Given the description of an element on the screen output the (x, y) to click on. 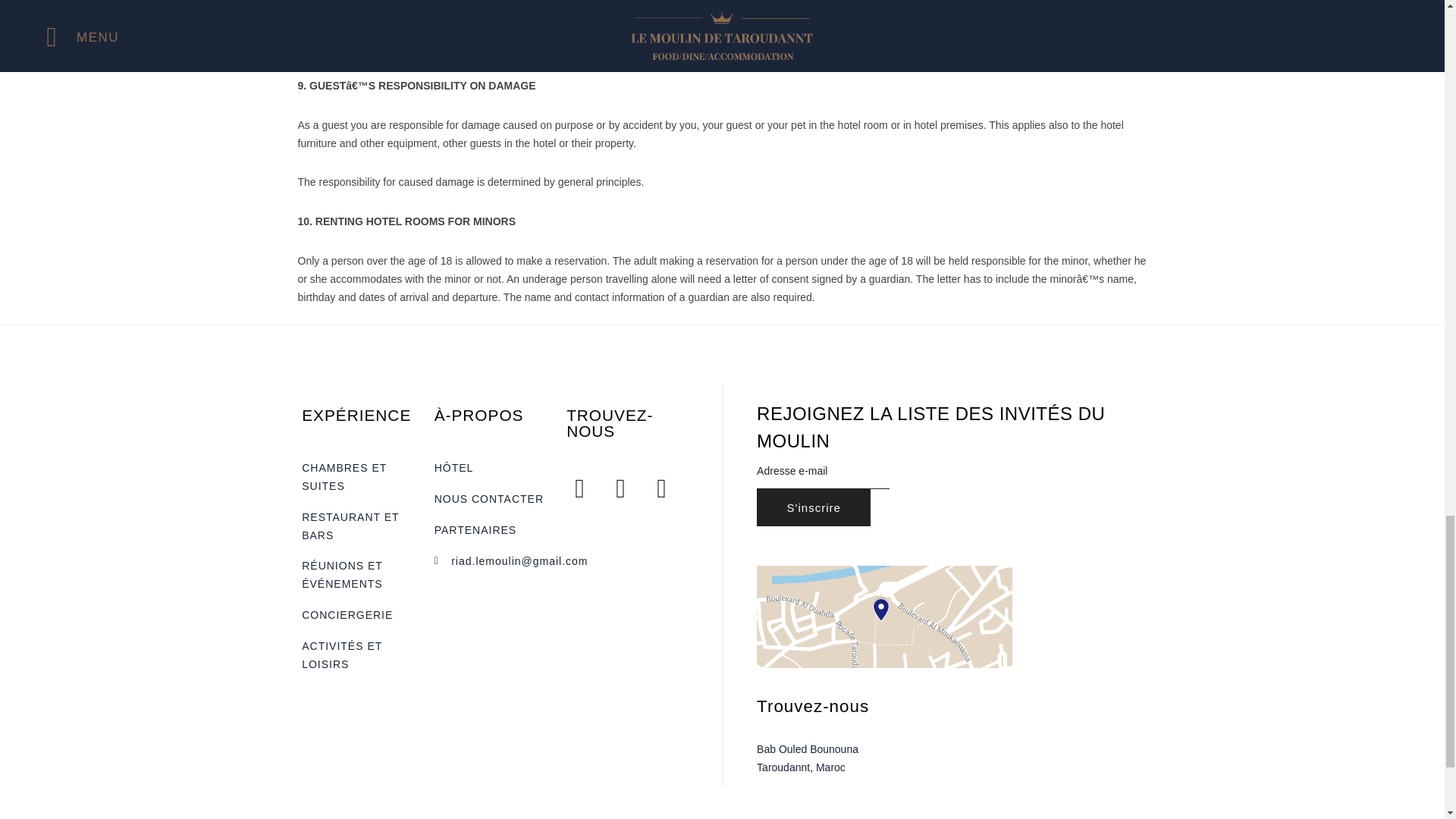
NOUS CONTACTER (492, 499)
S'inscrire (813, 507)
CHAMBRES ET SUITES (360, 477)
RESTAURANT ET BARS (360, 526)
S'inscrire (813, 507)
hotel-le-moulin-de-taroudant-map (884, 616)
CONCIERGERIE (360, 615)
PARTENAIRES (492, 530)
